Given the description of an element on the screen output the (x, y) to click on. 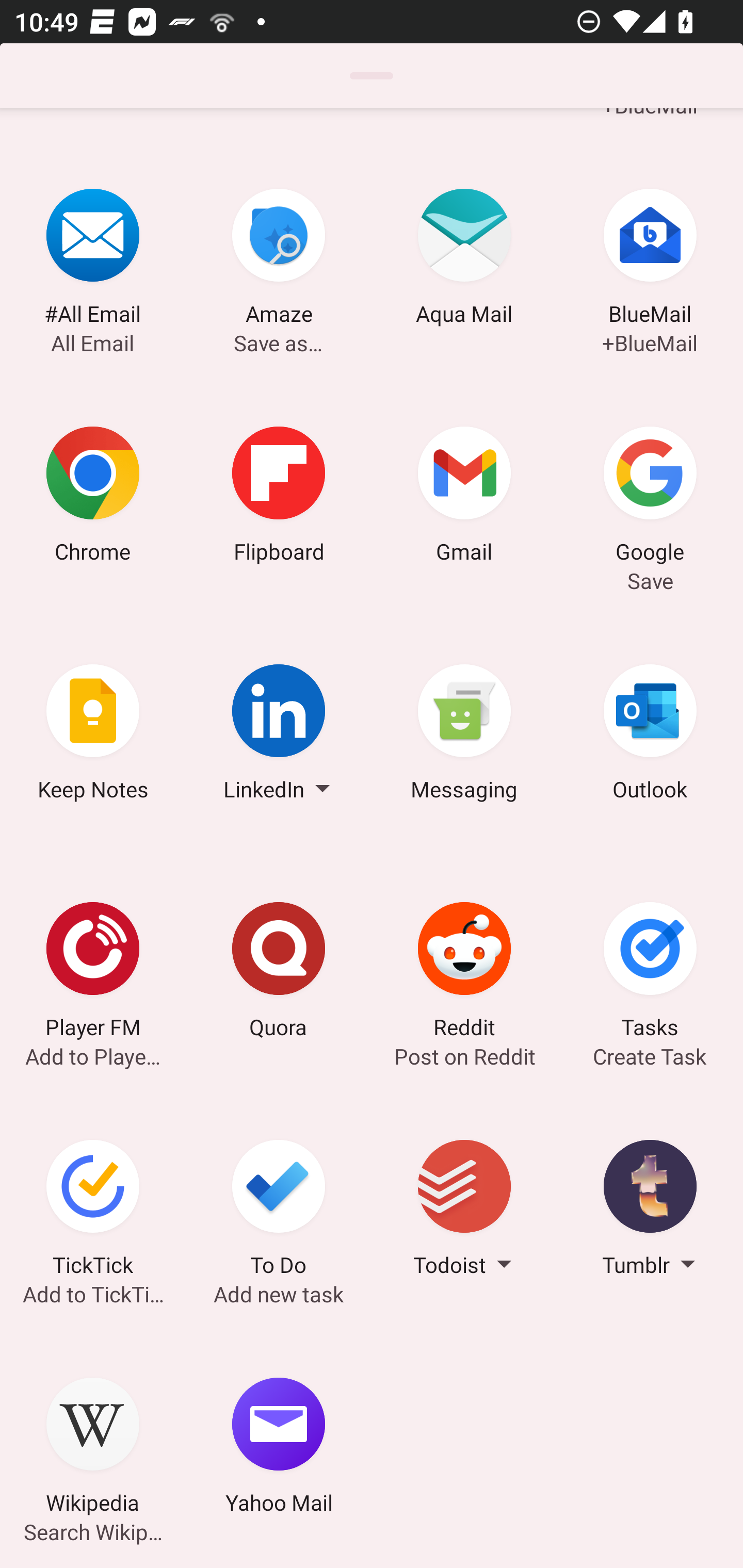
#All Email All Email (92, 260)
Amaze Save as… (278, 260)
Aqua Mail (464, 260)
BlueMail +BlueMail (650, 260)
Chrome (92, 497)
Flipboard (278, 497)
Gmail (464, 497)
Google Save (650, 497)
Keep Notes (92, 735)
LinkedIn (278, 735)
Messaging (464, 735)
Outlook (650, 735)
Player FM Add to Player FM (92, 973)
Quora (278, 973)
Reddit Post on Reddit (464, 973)
Tasks Create Task (650, 973)
TickTick Add to TickTick (92, 1210)
To Do Add new task (278, 1210)
Todoist (464, 1210)
Tumblr (650, 1210)
Wikipedia Search Wikipedia (92, 1448)
Yahoo Mail (278, 1448)
